Given the description of an element on the screen output the (x, y) to click on. 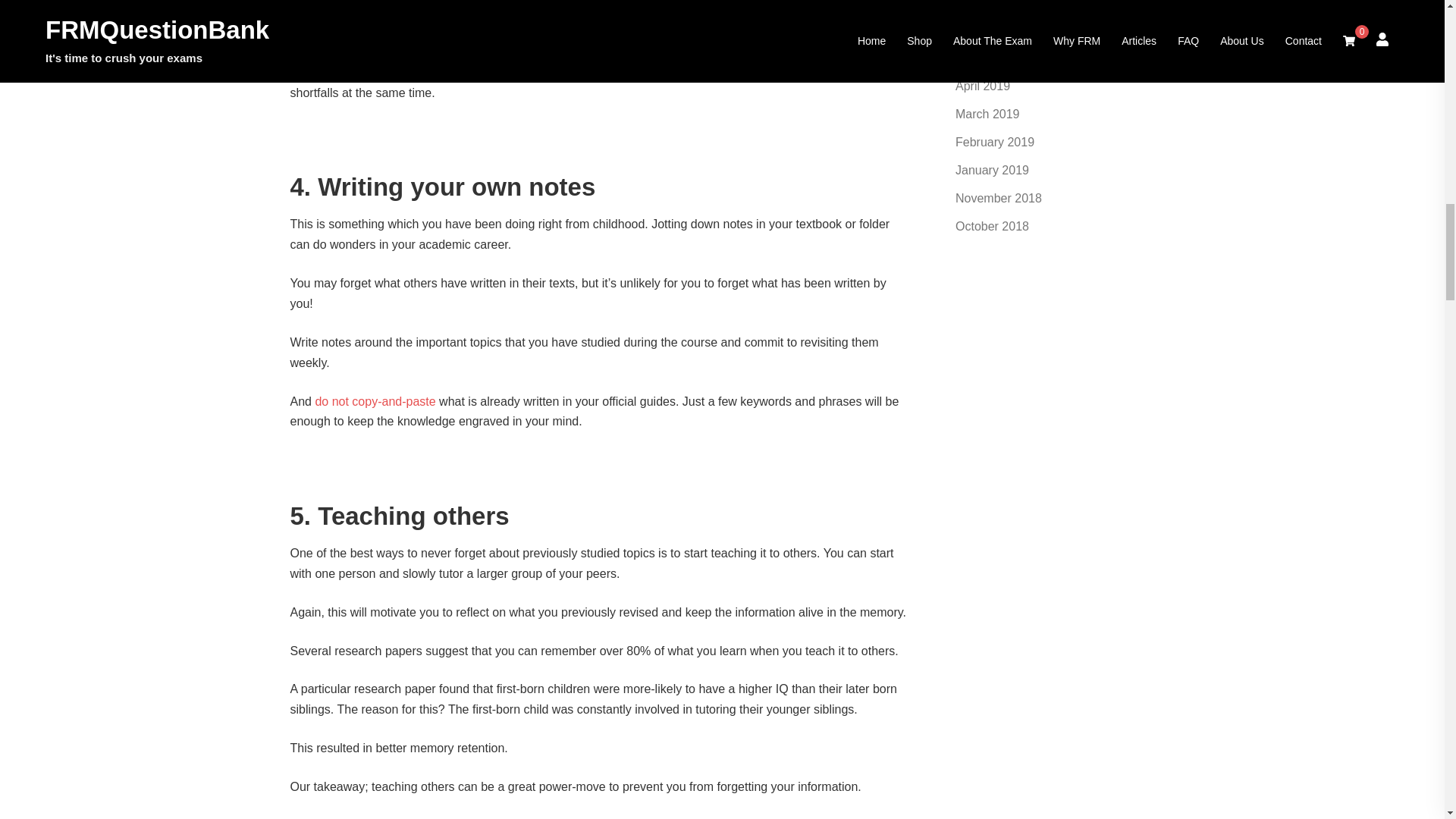
do not copy-and-paste (374, 400)
